Given the description of an element on the screen output the (x, y) to click on. 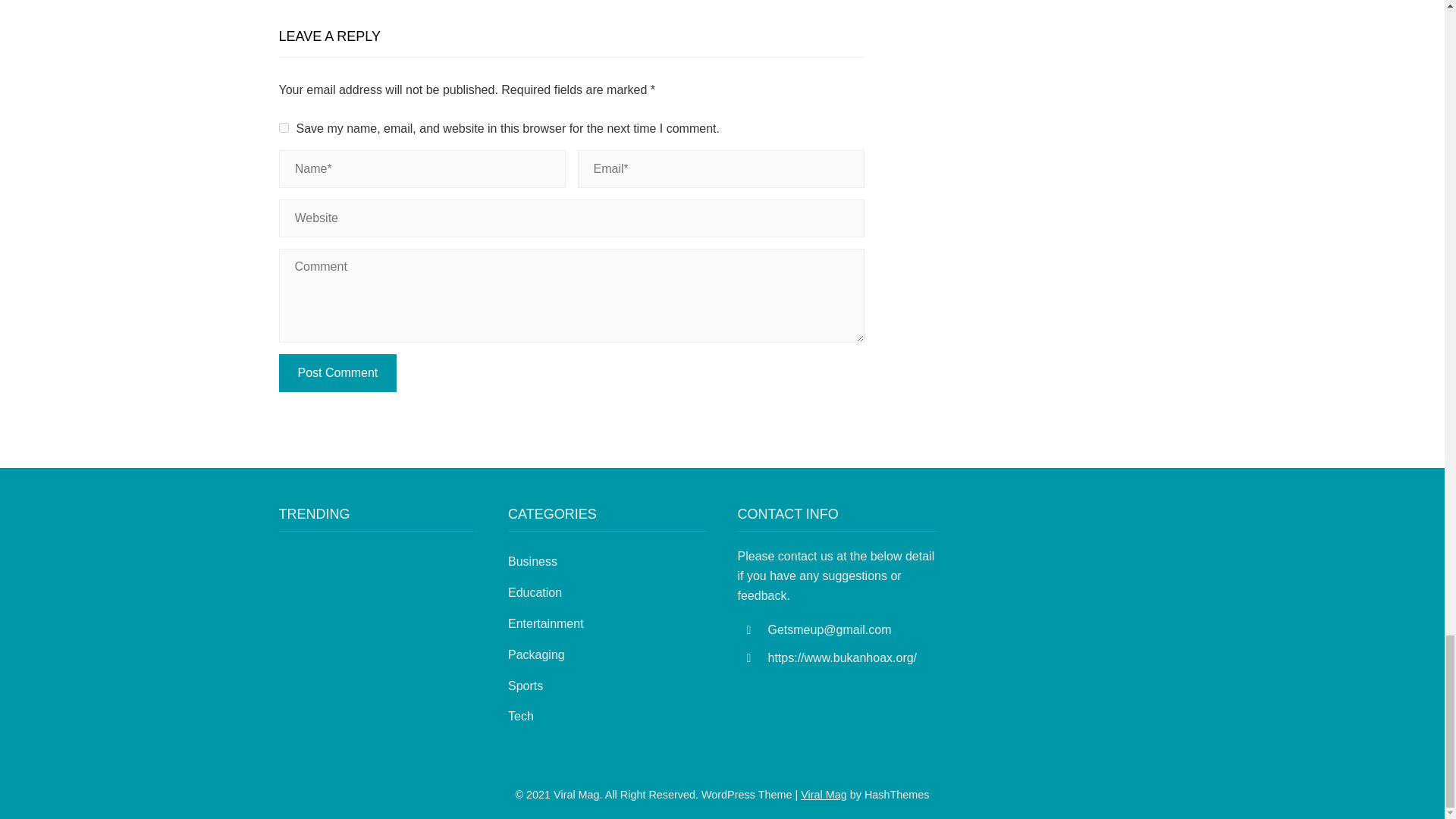
yes (283, 127)
Post Comment (338, 372)
Download Viral News (823, 794)
